Given the description of an element on the screen output the (x, y) to click on. 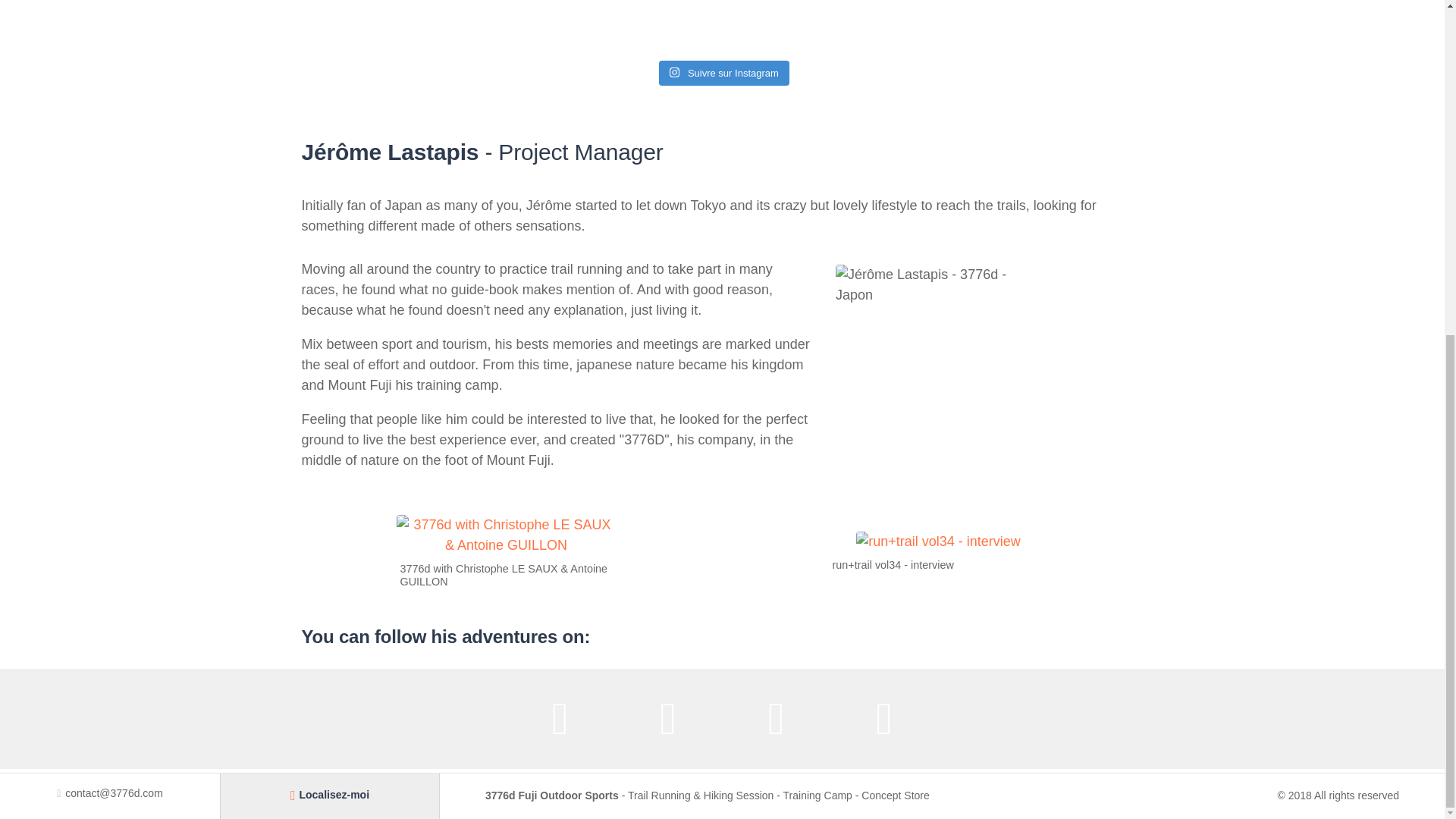
Suivre sur Instagram (724, 73)
Instagram (776, 719)
Blogger (884, 719)
Twitter (667, 719)
Facebook (560, 719)
